Given the description of an element on the screen output the (x, y) to click on. 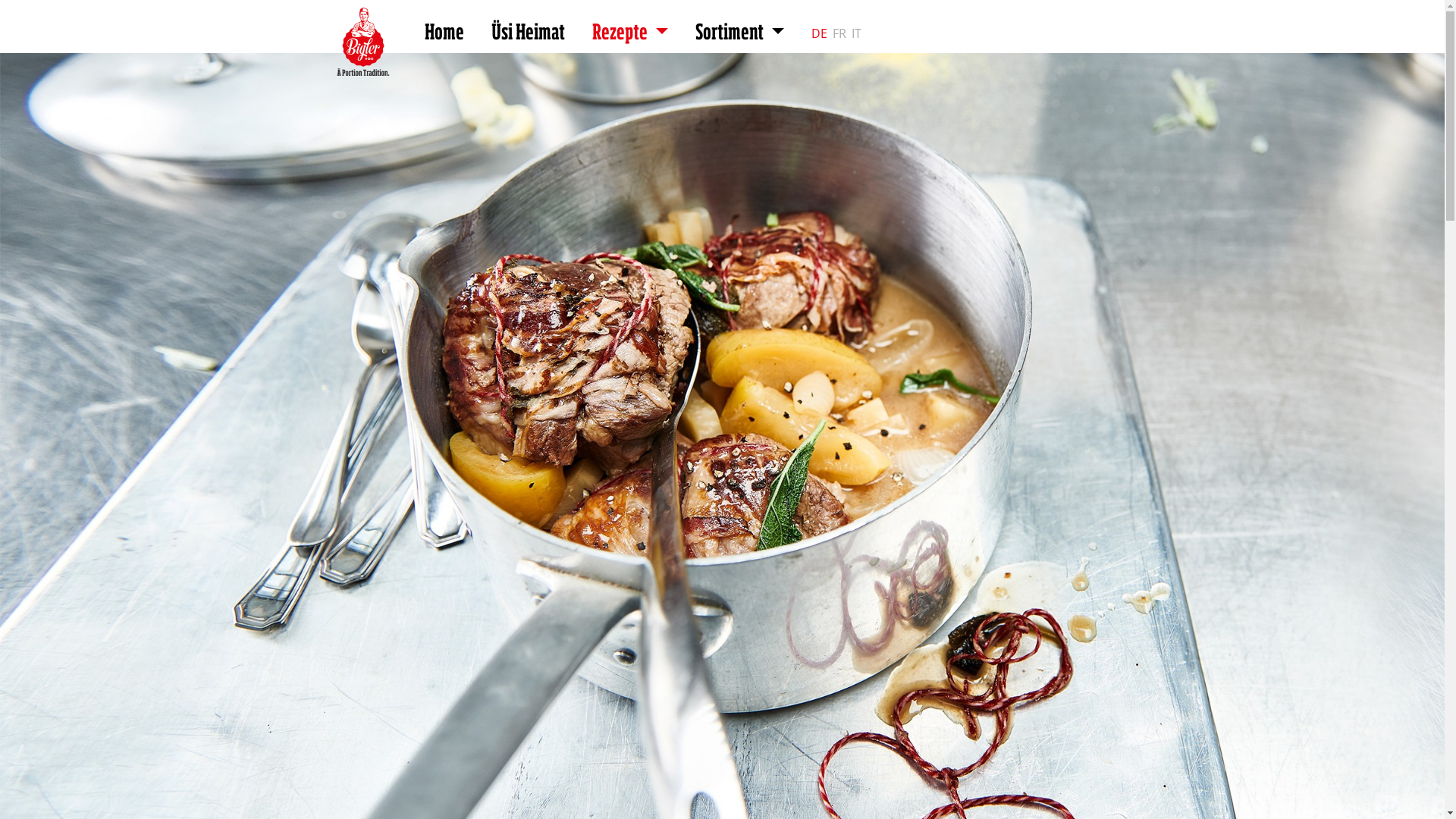
Home Element type: text (444, 32)
Rezepte Element type: text (630, 32)
FR Element type: text (840, 34)
DE Element type: text (820, 34)
IT Element type: text (863, 34)
Sortiment Element type: text (739, 32)
